Given the description of an element on the screen output the (x, y) to click on. 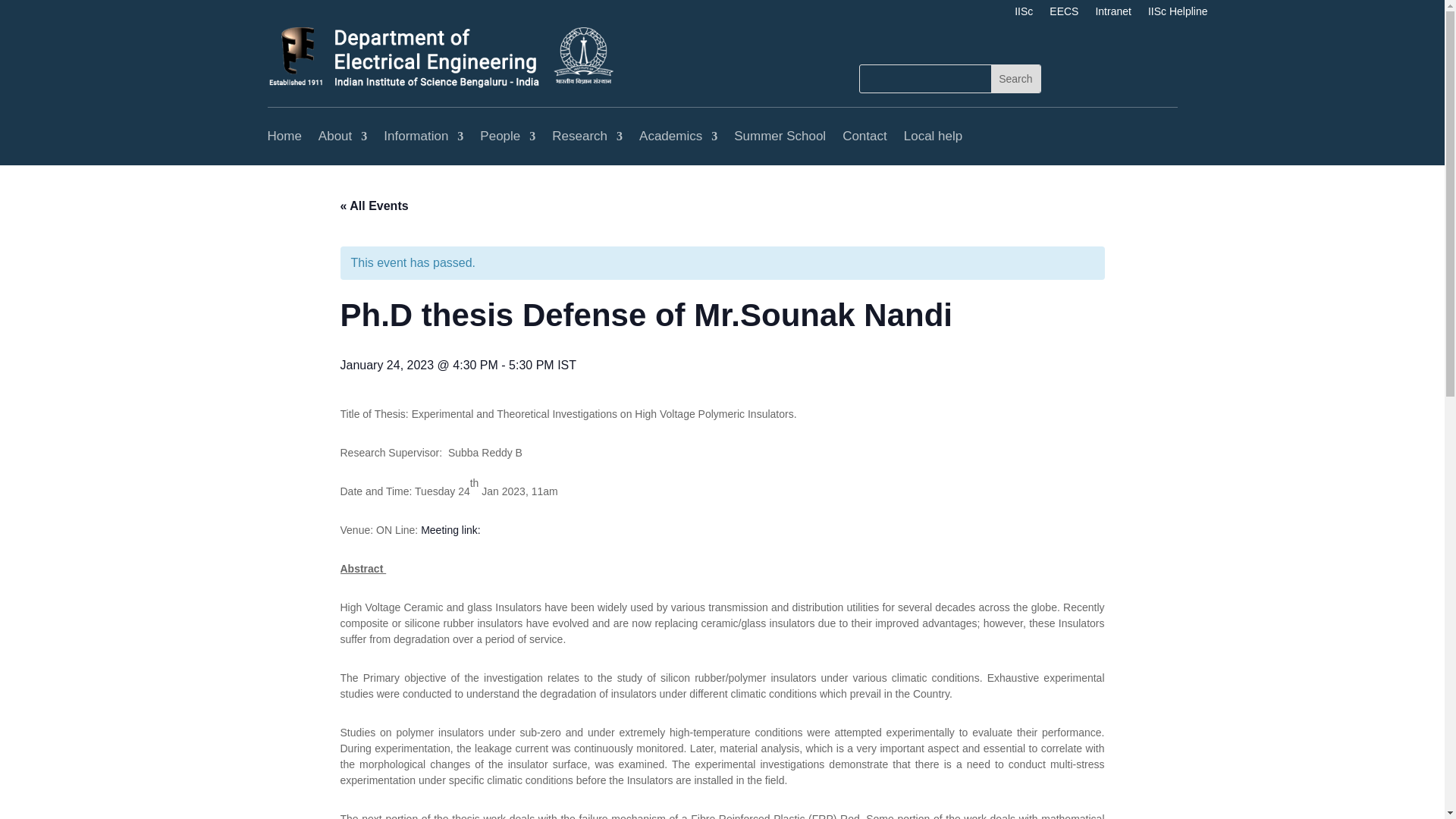
Information (423, 136)
IISc (1023, 13)
Summer School (779, 136)
People (507, 136)
Intranet (1112, 13)
Search (1015, 78)
Search (1015, 78)
Academics (678, 136)
Local help (933, 136)
IISc Helpline (1178, 13)
EECS (1063, 13)
Research (587, 136)
Search (1015, 78)
